Given the description of an element on the screen output the (x, y) to click on. 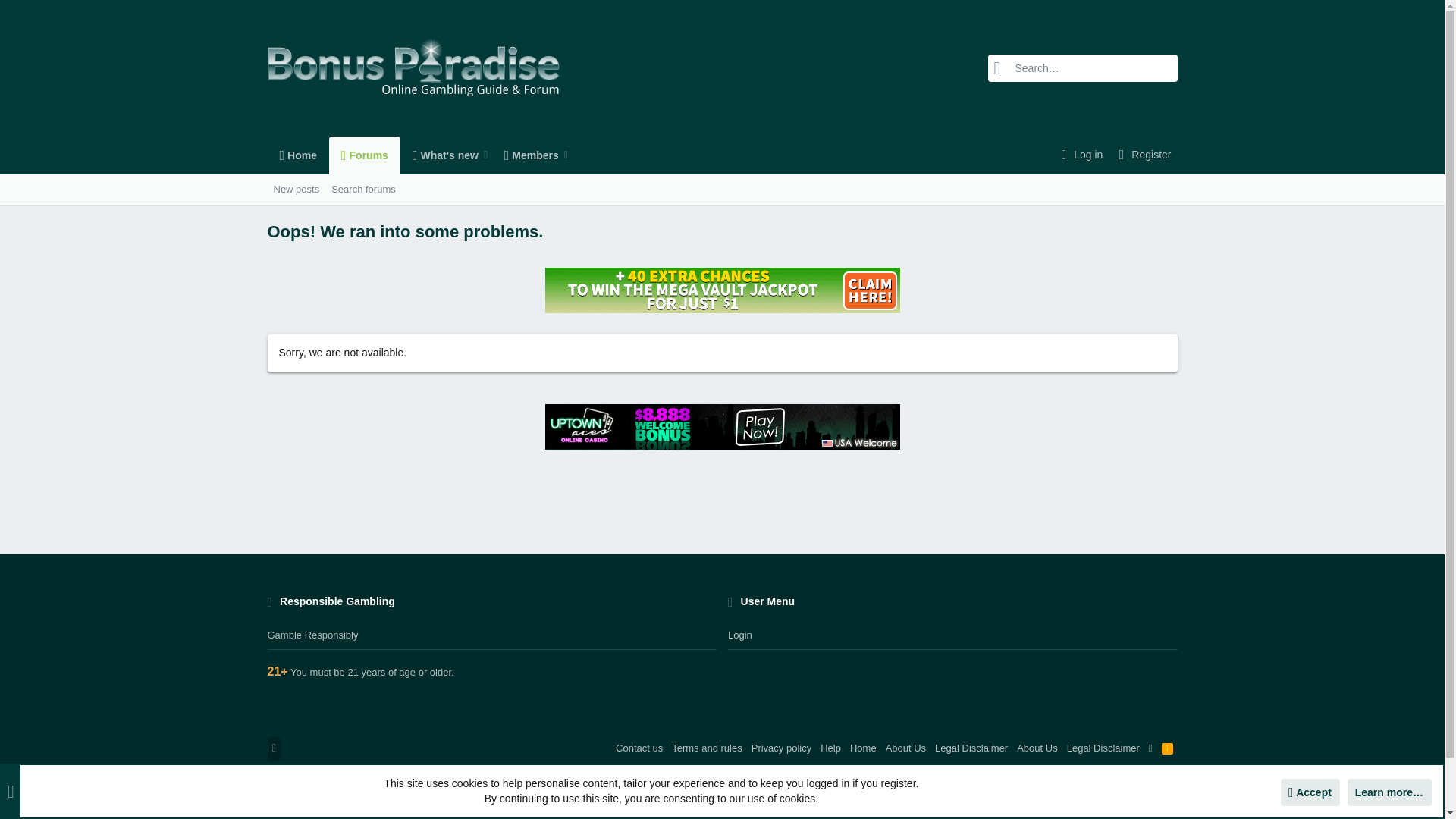
Log in (1079, 154)
What's new (419, 155)
RSS (440, 155)
Search forums (419, 155)
Forums (333, 189)
New posts (1167, 748)
Home (362, 189)
